Given the description of an element on the screen output the (x, y) to click on. 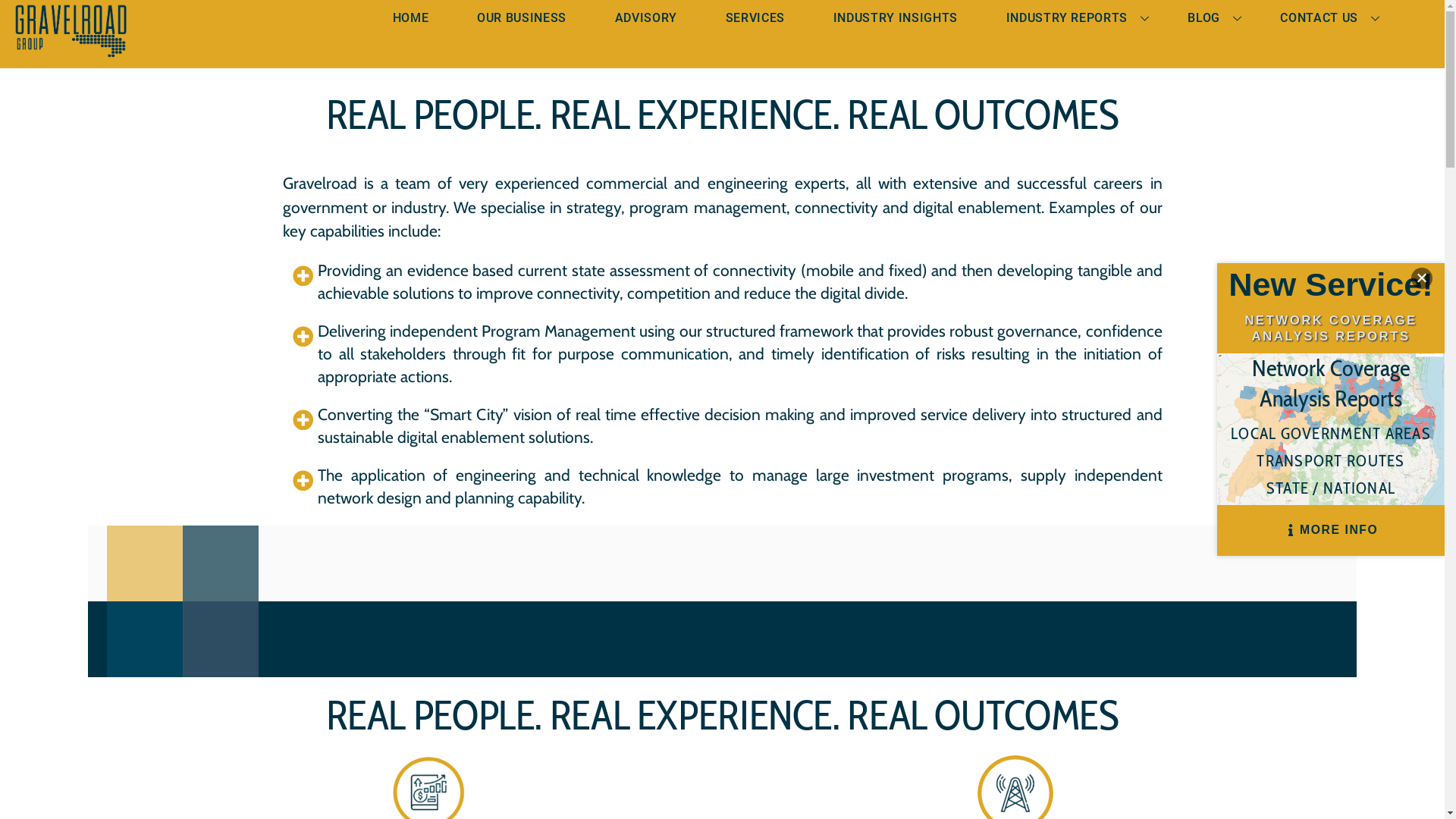
INDUSTRY INSIGHTS Element type: text (894, 17)
ADVISORY Element type: text (645, 17)
HOME Element type: text (410, 17)
X Element type: text (1421, 277)
BLOG Element type: text (1209, 17)
MORE INFO Element type: text (1330, 530)
INDUSTRY REPORTS Element type: text (1072, 17)
Gravelroad Australia Element type: hover (71, 48)
Widgets Element type: text (1414, 15)
SERVICES Element type: text (754, 17)
CONTACT US Element type: text (1325, 17)
GravelroadGroupBlueTrans.fw Element type: hover (71, 30)
OUR BUSINESS Element type: text (522, 17)
NETWORK COVERAGE ANALYSIS REPORTS Element type: text (1330, 327)
